Given the description of an element on the screen output the (x, y) to click on. 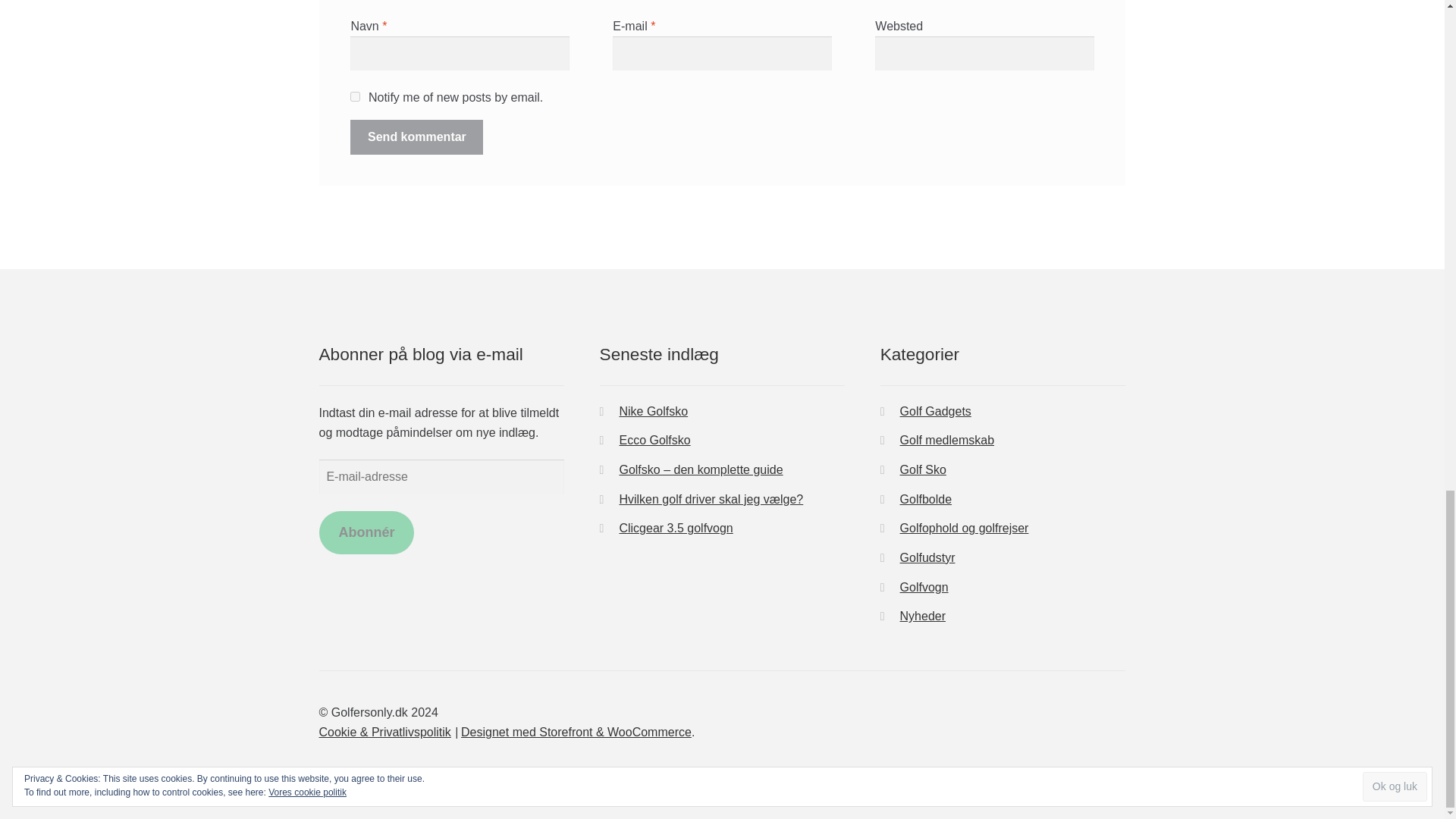
WooCommerce - Bedste e-handels platform til WordPress (576, 731)
Send kommentar (416, 136)
subscribe (354, 96)
